Given the description of an element on the screen output the (x, y) to click on. 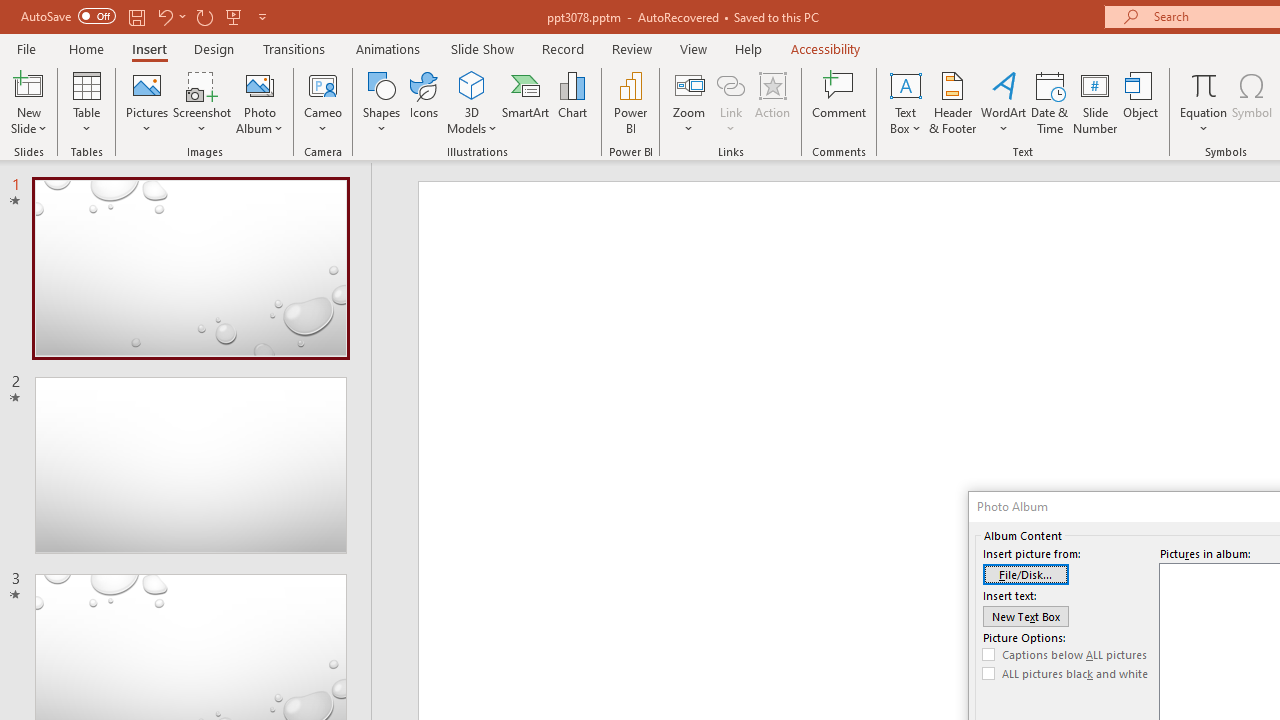
File/Disk... (1025, 574)
Link (731, 84)
Equation (1203, 102)
3D Models (472, 102)
Symbol... (1252, 102)
Icons (424, 102)
WordArt (1004, 102)
Equation (1203, 84)
